Given the description of an element on the screen output the (x, y) to click on. 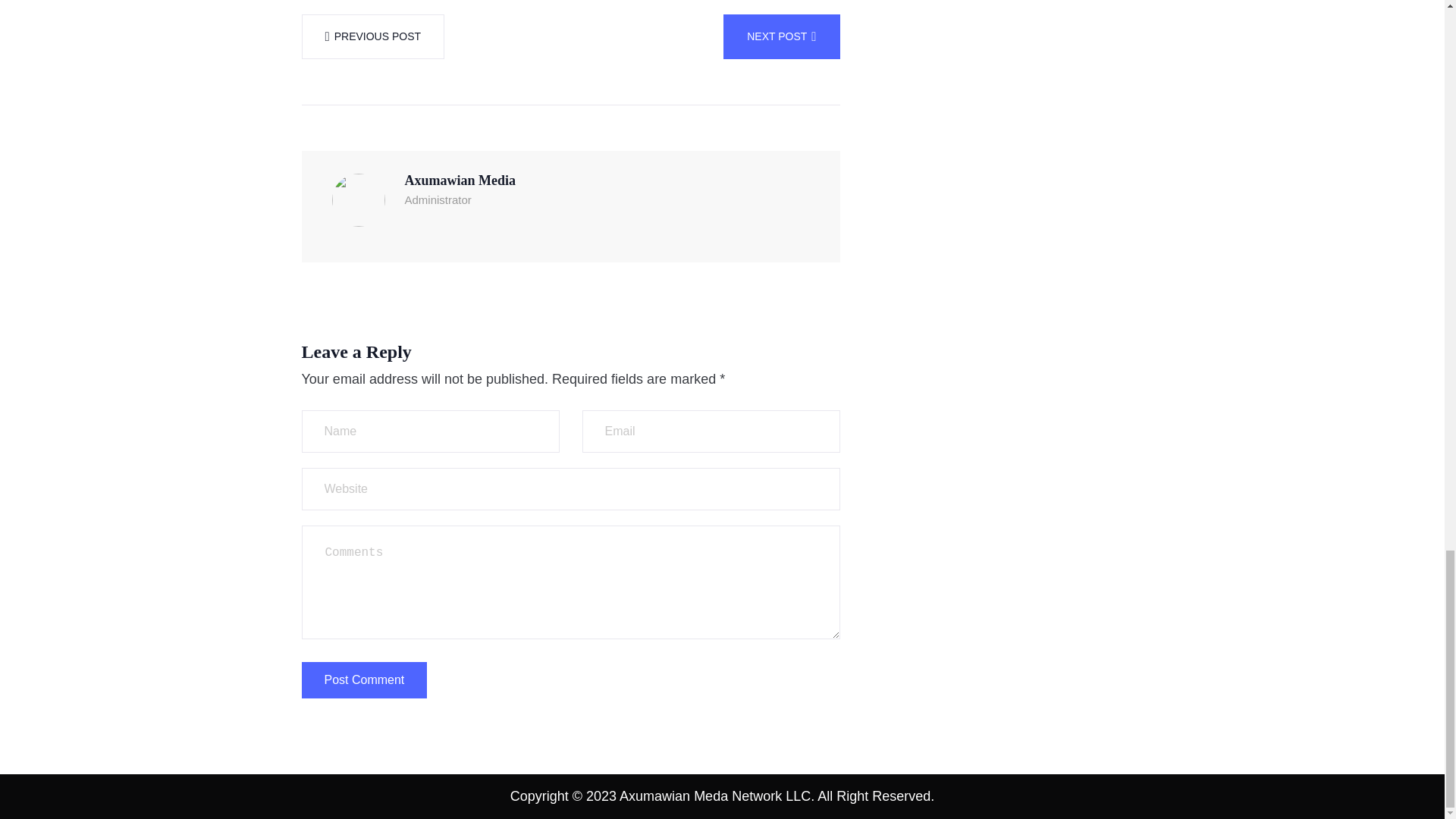
Post Comment (364, 679)
